Given the description of an element on the screen output the (x, y) to click on. 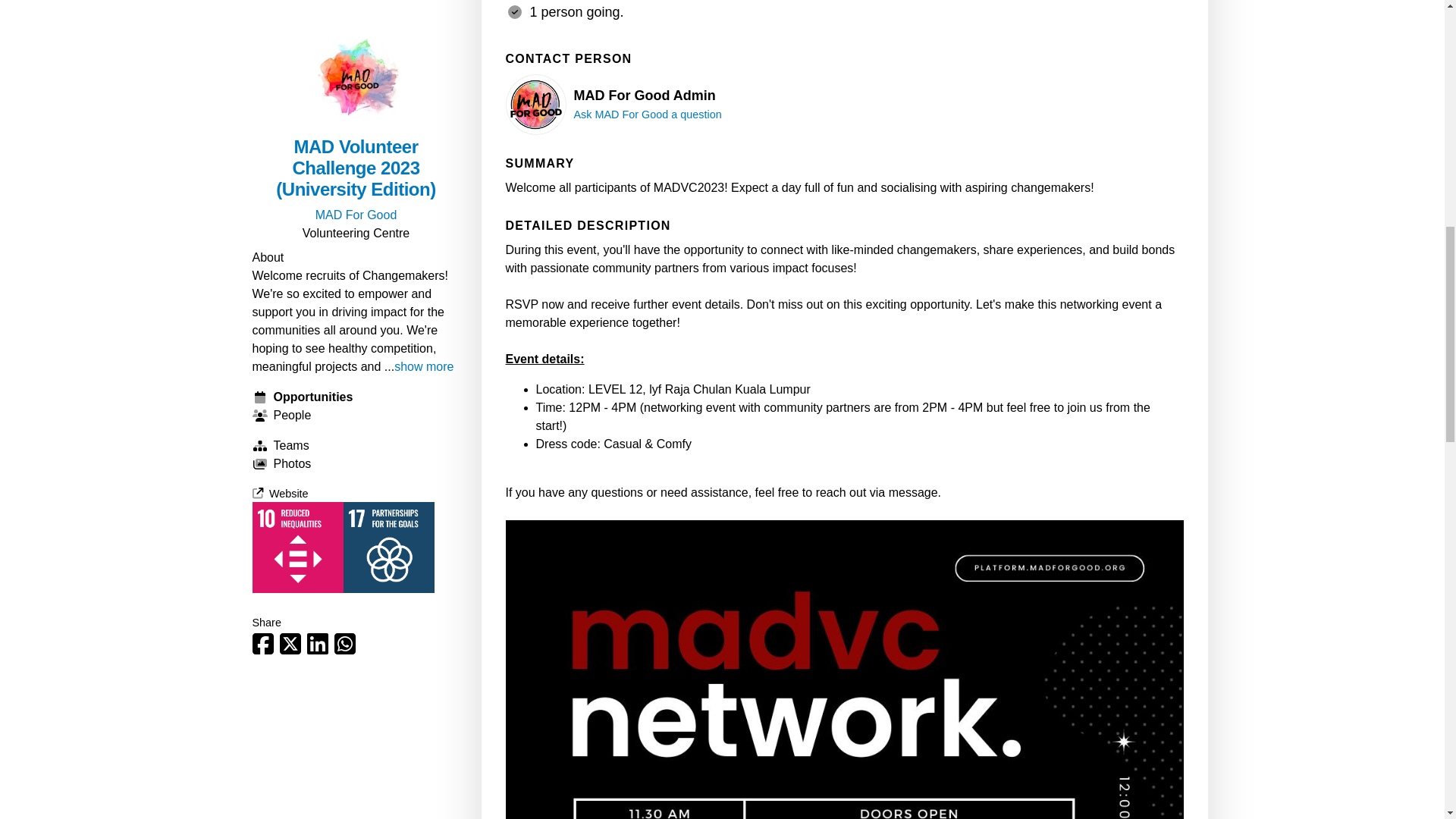
Ask MAD For Good a question (646, 114)
